Given the description of an element on the screen output the (x, y) to click on. 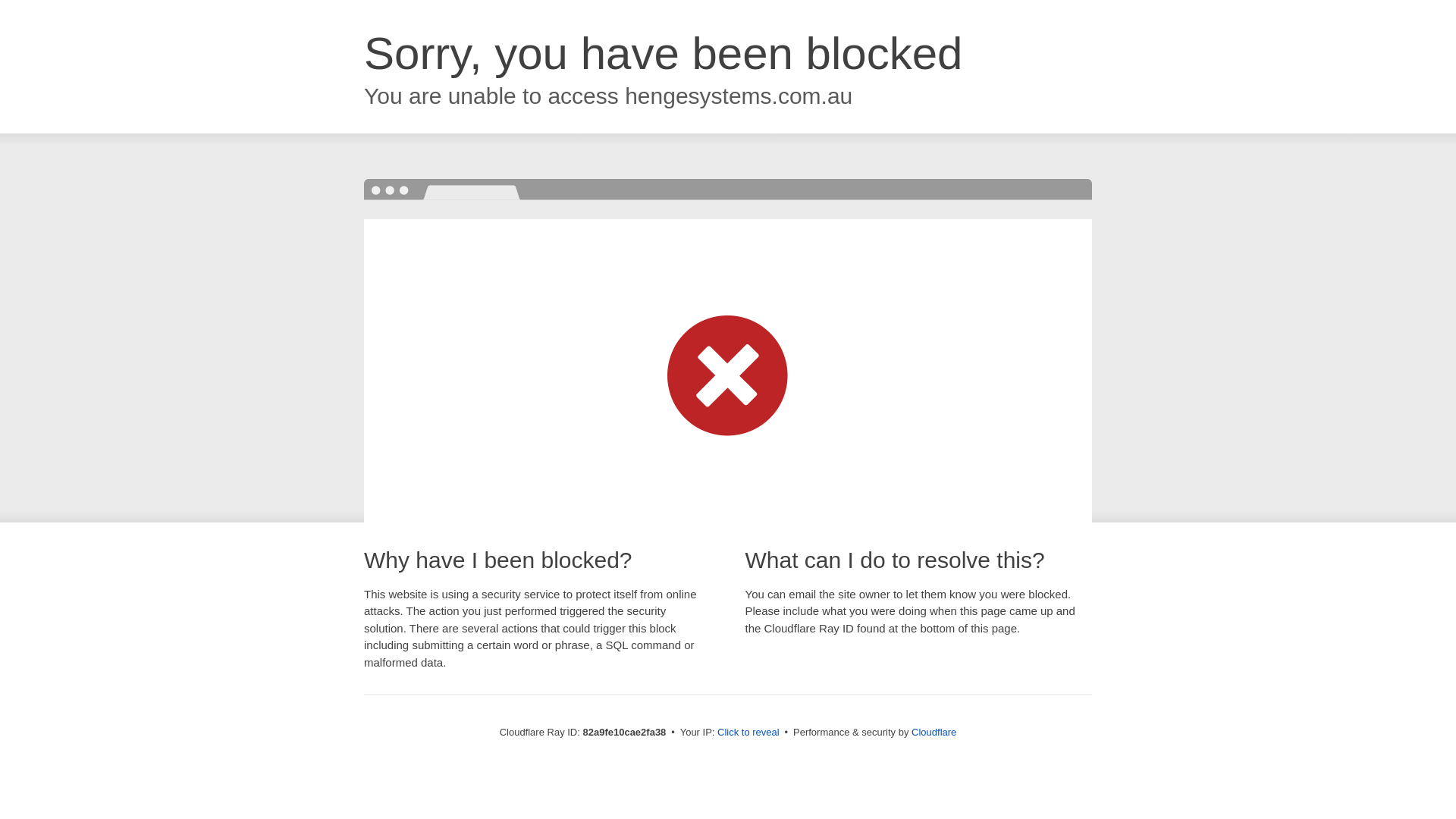
Click to reveal Element type: text (748, 732)
Cloudflare Element type: text (933, 731)
